Given the description of an element on the screen output the (x, y) to click on. 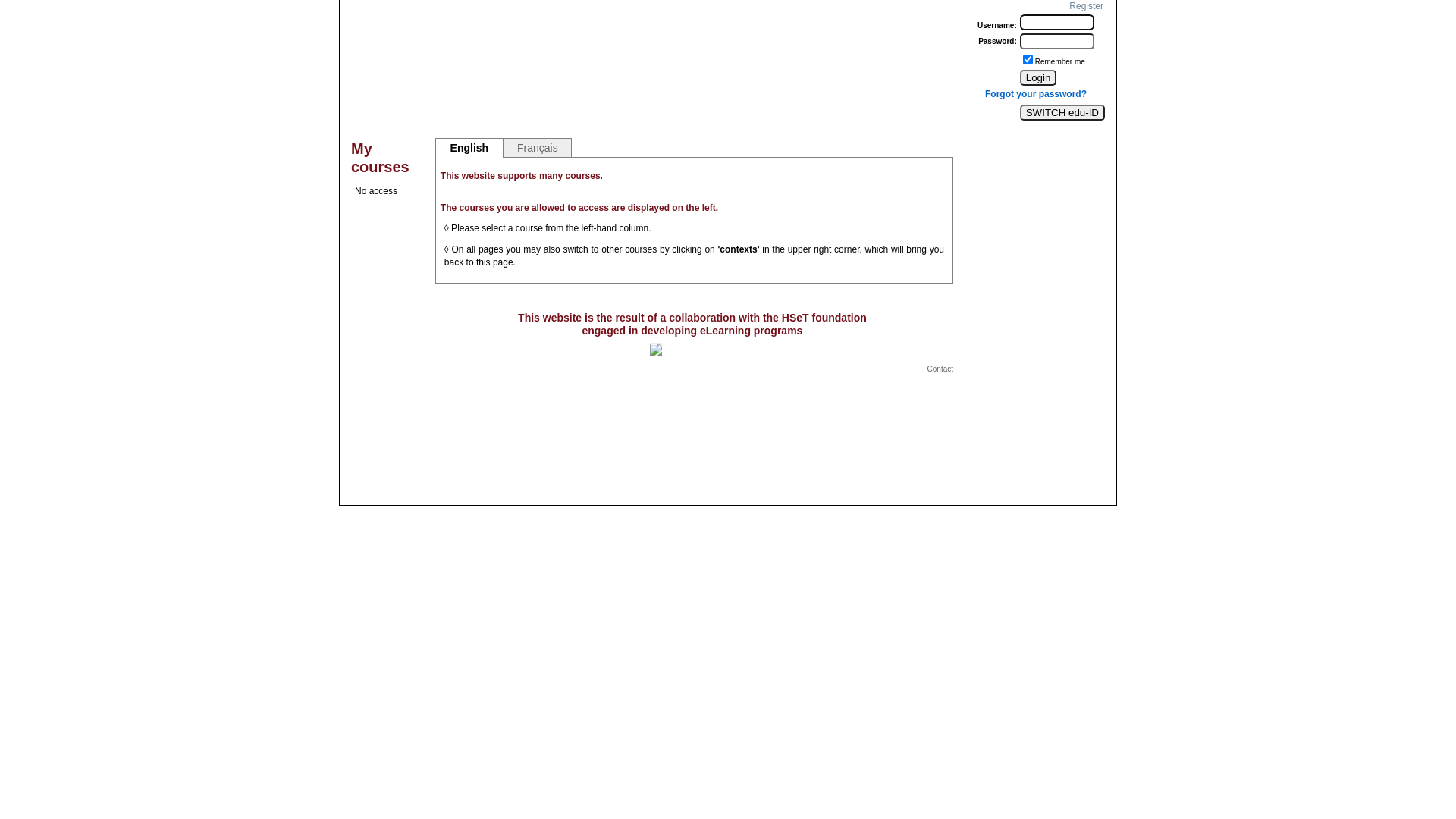
SWITCH edu-ID Element type: text (1061, 112)
Login Element type: text (1038, 77)
Password Element type: hover (1056, 41)
English Element type: text (469, 147)
Login Element type: hover (1056, 22)
Forgot your password? Element type: text (1035, 93)
Register Element type: text (1086, 5)
Contact Element type: text (940, 368)
